Given the description of an element on the screen output the (x, y) to click on. 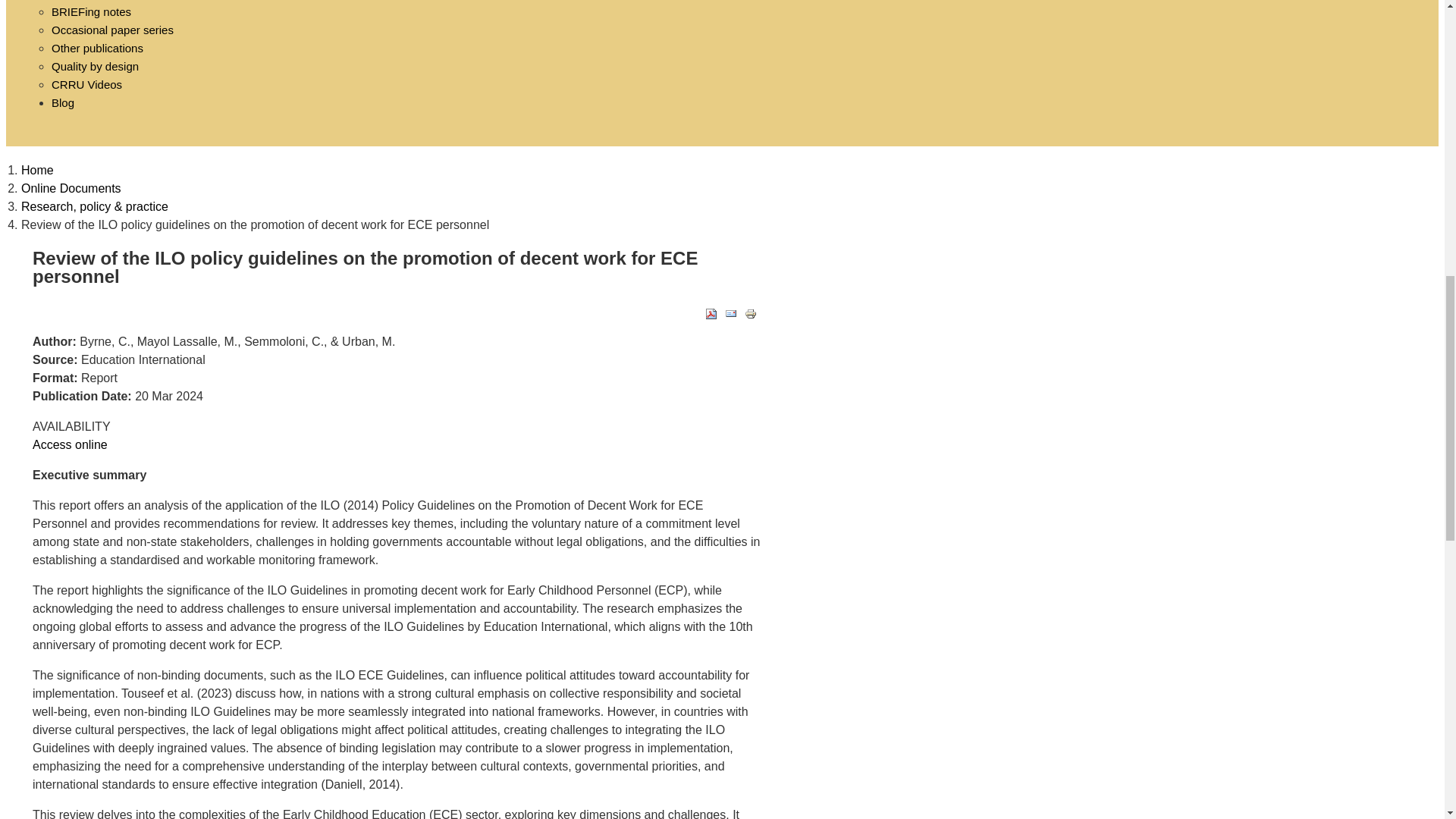
Other publications (96, 47)
BRIEFing notes (90, 11)
Quality by design (94, 65)
Occasional paper series (111, 29)
